Given the description of an element on the screen output the (x, y) to click on. 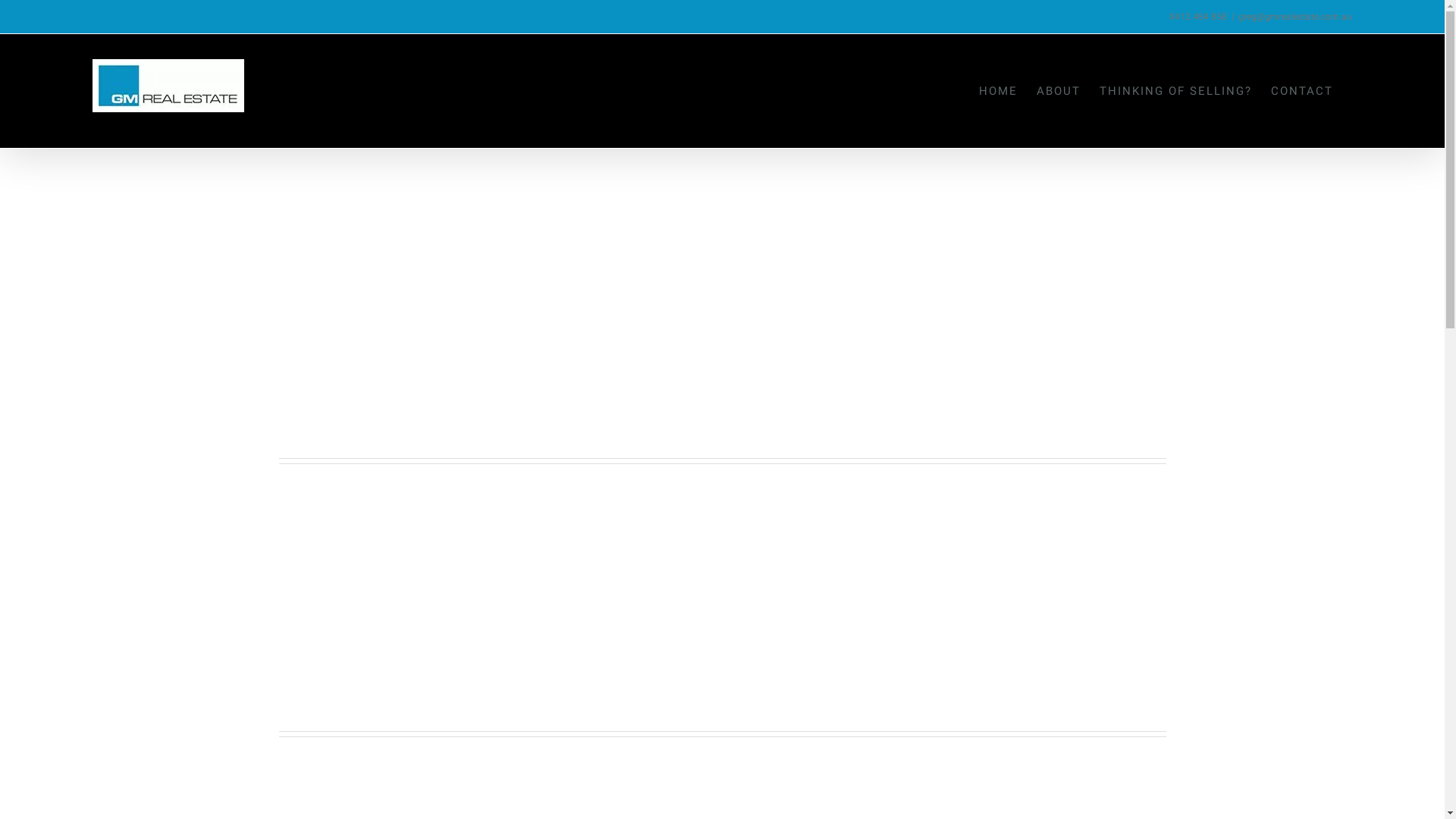
ABOUT Element type: text (1058, 90)
greg@gmrealestate.com.au Element type: text (1295, 16)
CONTACT Element type: text (1301, 90)
0412 484 858 Element type: text (1197, 16)
HOME Element type: text (998, 90)
THINKING OF SELLING? Element type: text (1175, 90)
